Given the description of an element on the screen output the (x, y) to click on. 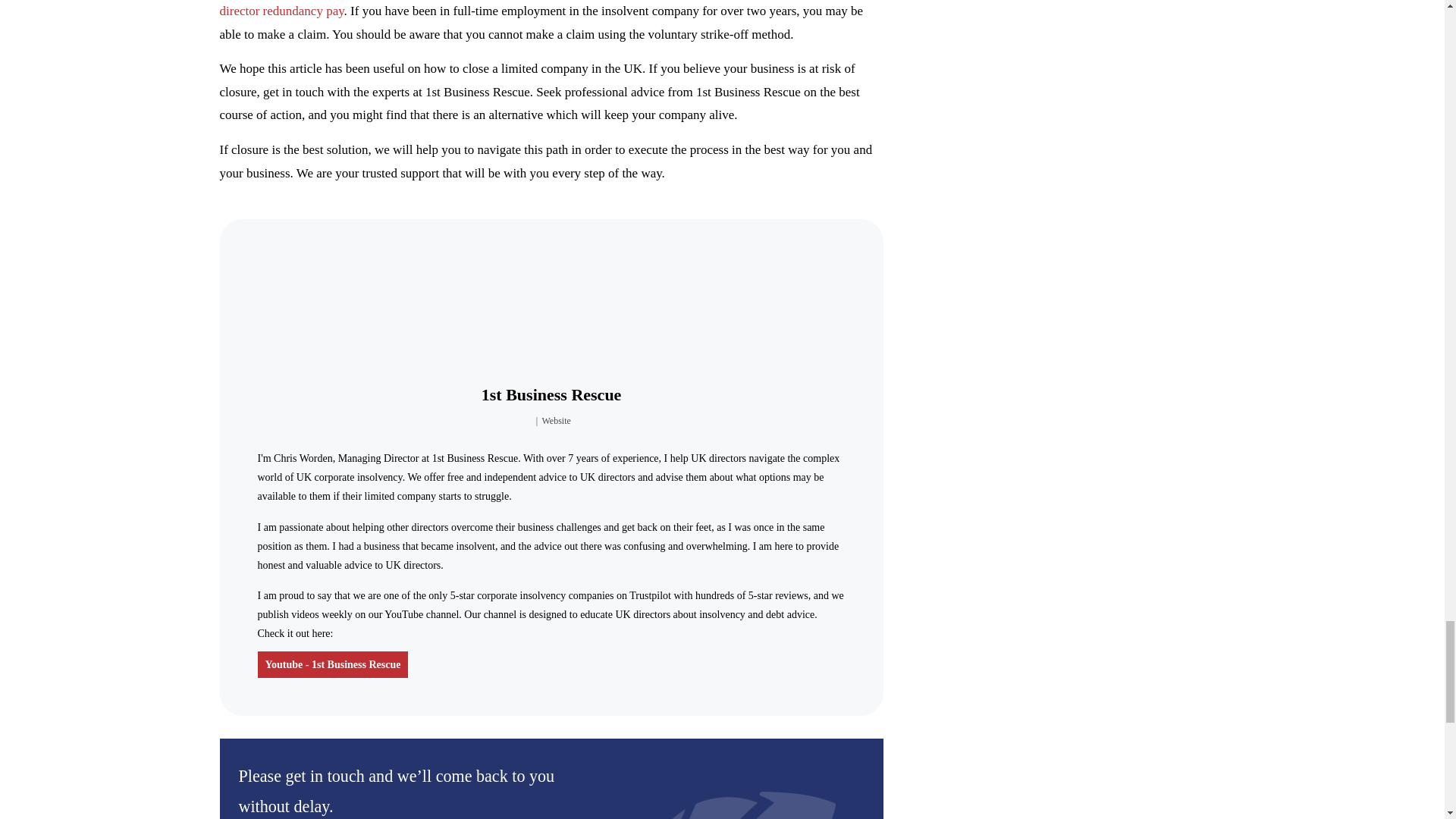
director redundancy pay (281, 11)
Youtube - 1st Business Rescue (333, 664)
Website (555, 420)
1st Business Rescue (551, 394)
